Given the description of an element on the screen output the (x, y) to click on. 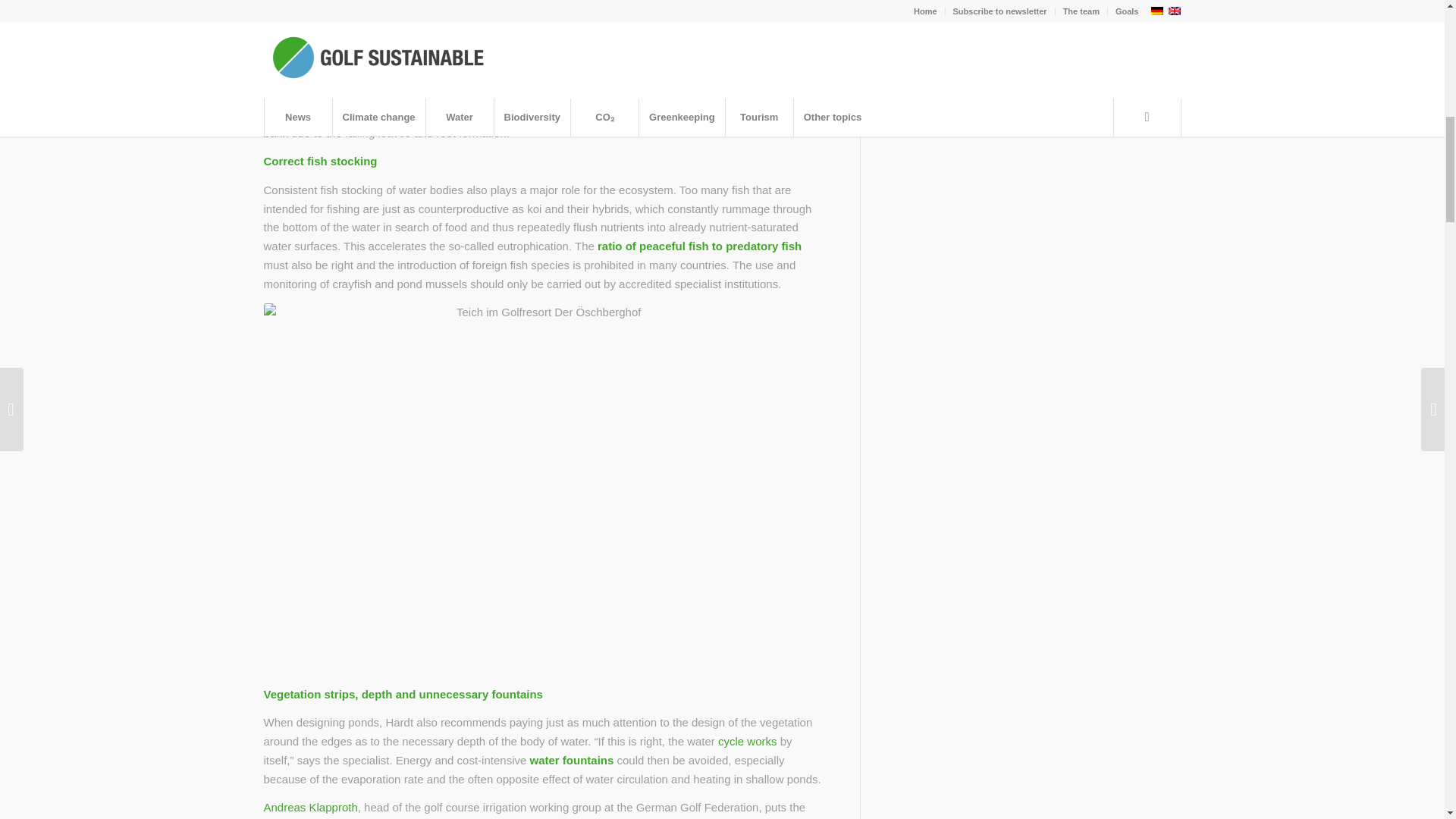
Andreas Klapproth (310, 807)
cycle works (747, 740)
